Given the description of an element on the screen output the (x, y) to click on. 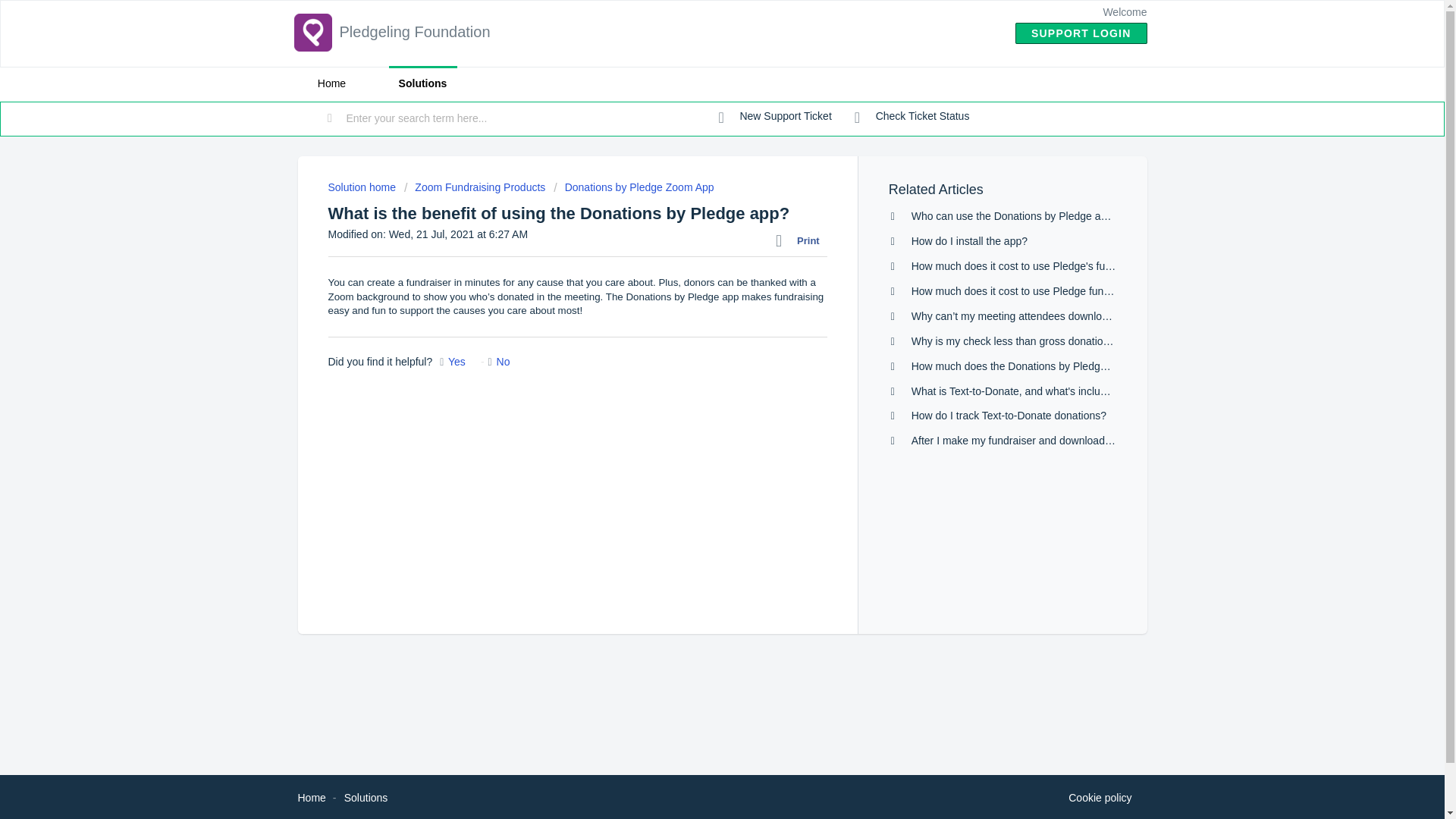
Check Ticket Status (911, 116)
How do I track Text-to-Donate donations? (1008, 415)
Print (801, 240)
Solutions (365, 797)
How much does it cost to use Pledge fundraisers on Zoom? (1051, 291)
What is Text-to-Donate, and what's included? (1017, 390)
Check ticket status (911, 116)
Zoom Fundraising Products (474, 186)
Solution home (362, 186)
SUPPORT LOGIN (1080, 33)
